Given the description of an element on the screen output the (x, y) to click on. 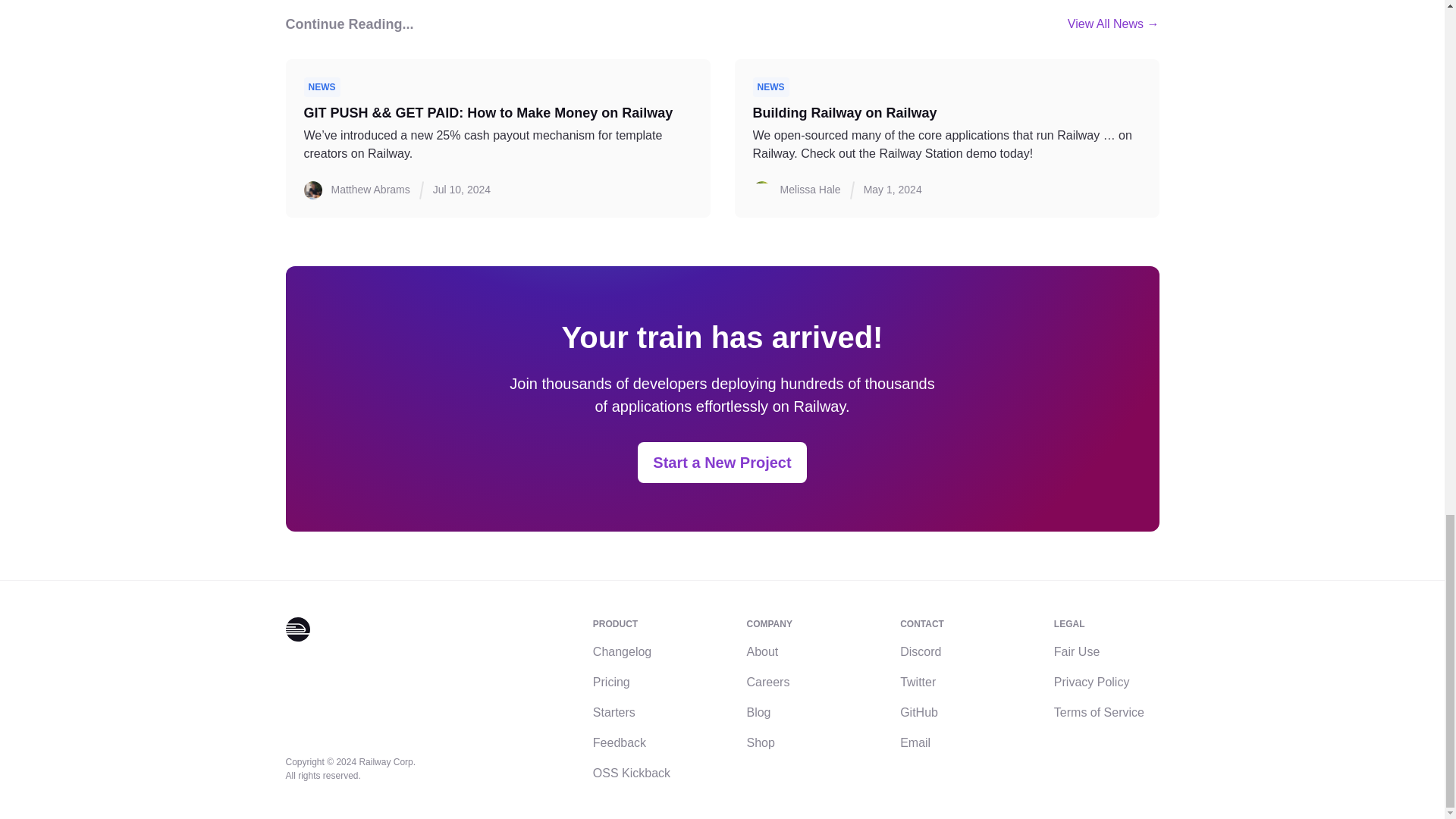
Twitter (917, 681)
Fair Use (1076, 651)
Blog (757, 712)
About (761, 651)
Discord (919, 651)
Pricing (611, 681)
Feedback (619, 742)
Start a New Project (721, 462)
Changelog (621, 651)
Shop (759, 742)
Careers (767, 681)
Email (914, 742)
Starters (613, 712)
OSS Kickback (630, 772)
Privacy Policy (1091, 681)
